Given the description of an element on the screen output the (x, y) to click on. 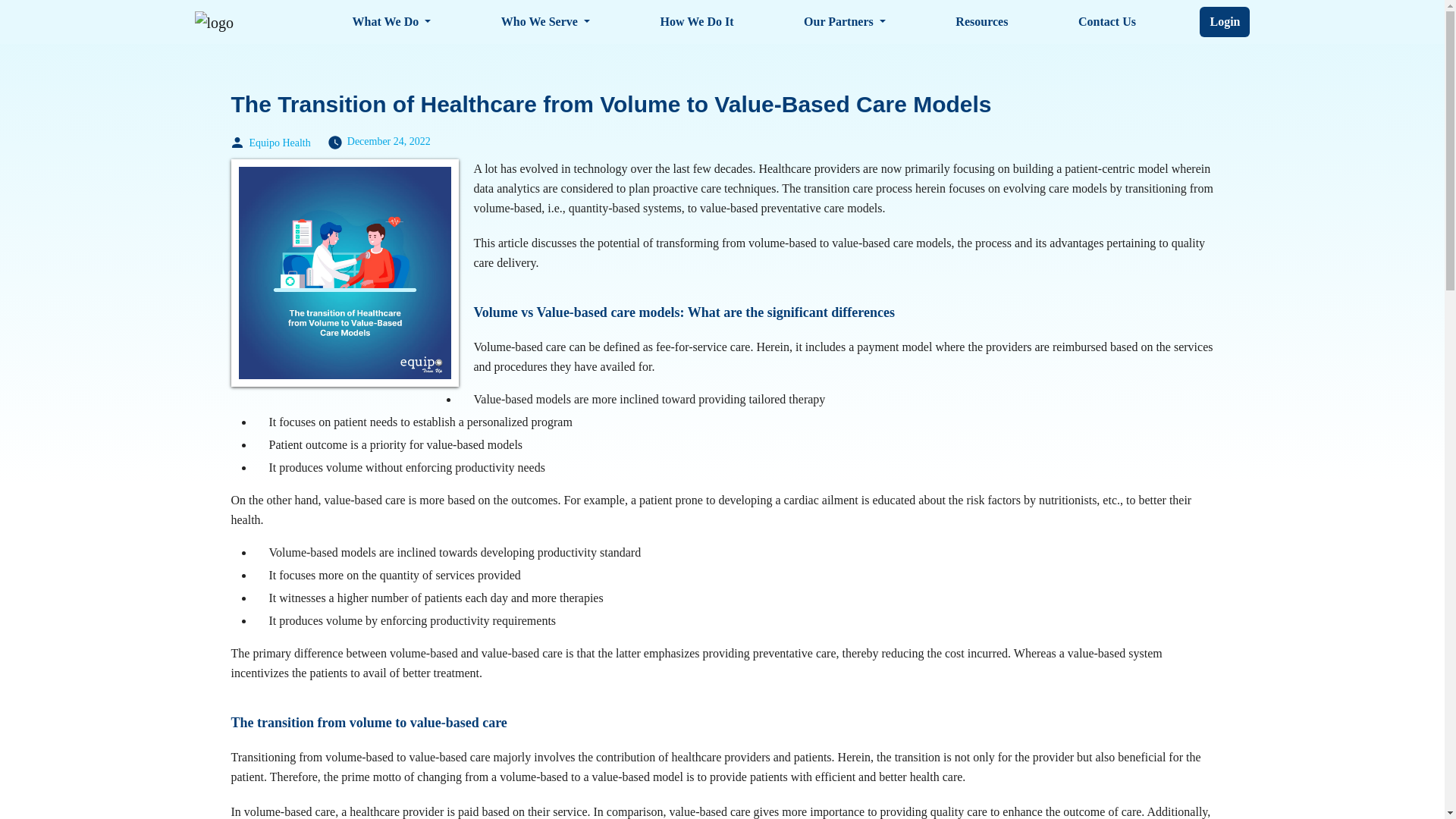
Our Partners (844, 21)
Login (1225, 21)
Who We Serve (545, 21)
Equipo Health (279, 142)
What We Do (392, 21)
How We Do It (696, 21)
Contact Us (1106, 21)
Resources (981, 21)
